Given the description of an element on the screen output the (x, y) to click on. 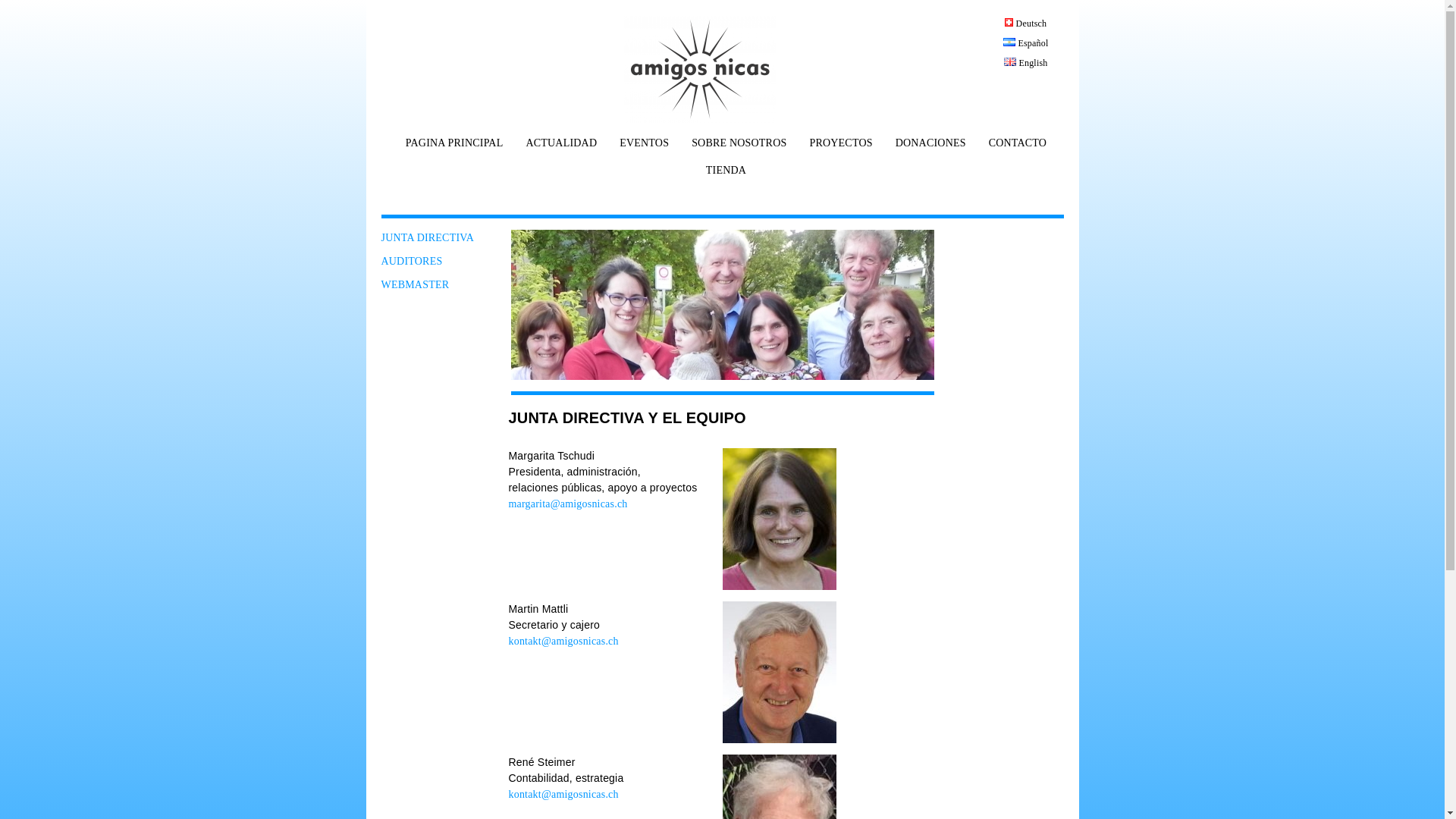
SOBRE NOSOTROS Element type: text (734, 149)
TIENDA Element type: text (721, 176)
EVENTOS Element type: text (640, 149)
kontakt@amigosnicas.ch Element type: text (563, 794)
ACTUALIDAD Element type: text (557, 149)
Deutsch Element type: text (1025, 23)
English Element type: text (1026, 62)
kontakt@amigosnicas.ch Element type: text (563, 640)
PROYECTOS Element type: text (836, 149)
margarita@amigosnicas.ch Element type: text (567, 503)
MT Element type: hover (778, 518)
CONTACTO Element type: text (1013, 149)
AUDITORES Element type: text (411, 260)
MM Element type: hover (778, 672)
JUNTA DIRECTIVA Element type: text (426, 237)
DONACIONES Element type: text (926, 149)
WEBMASTER Element type: text (414, 284)
PAGINA PRINCIPAL Element type: text (450, 149)
